Given the description of an element on the screen output the (x, y) to click on. 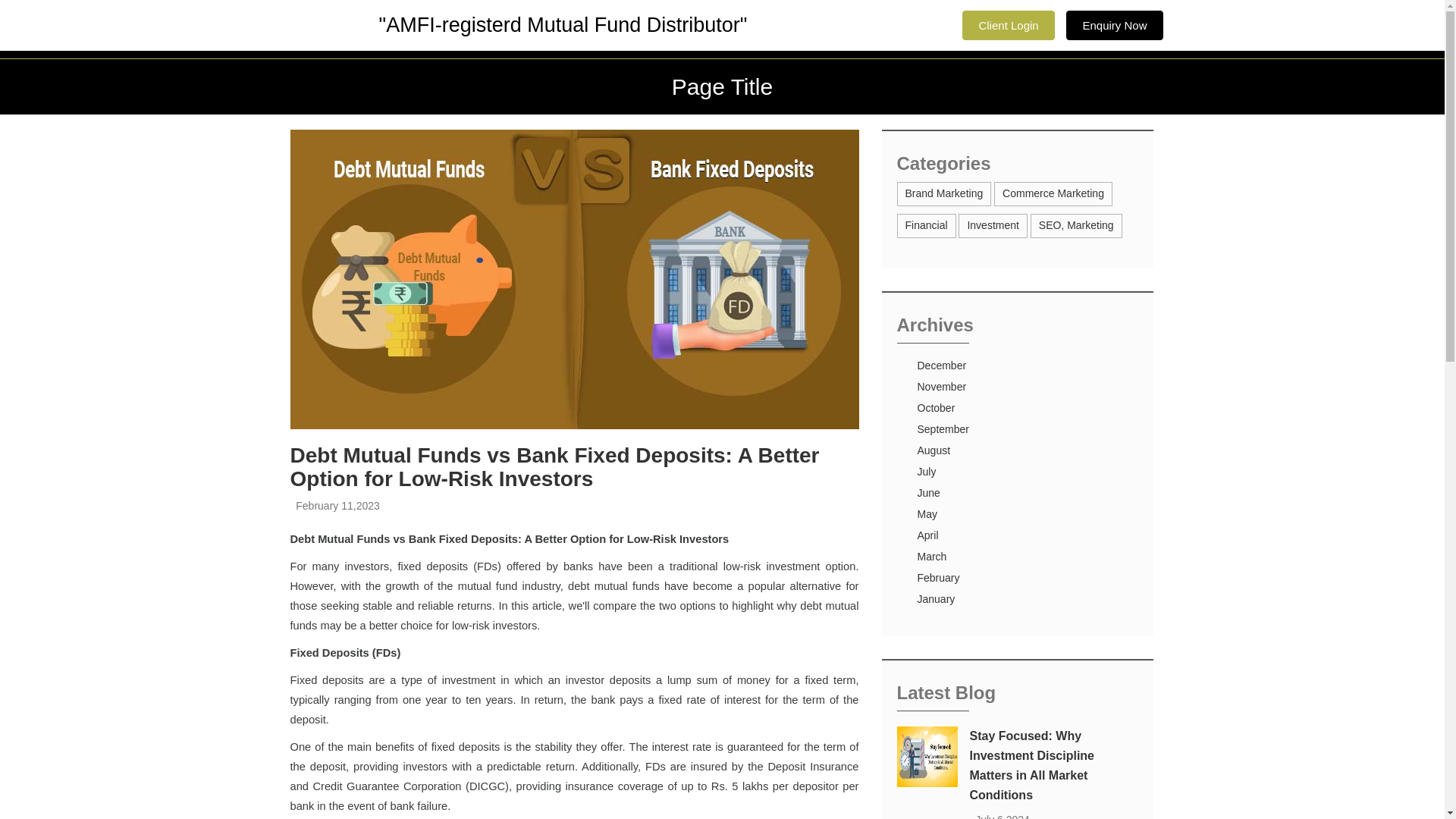
April (928, 535)
Commerce Marketing (1053, 193)
Client Login (1008, 25)
SEO, Marketing (1076, 224)
September (943, 428)
December (941, 365)
June (928, 492)
Investment (991, 224)
May (927, 513)
February (938, 577)
January (936, 598)
July (926, 471)
Enquiry Now (1113, 25)
March (932, 556)
August (933, 450)
